Given the description of an element on the screen output the (x, y) to click on. 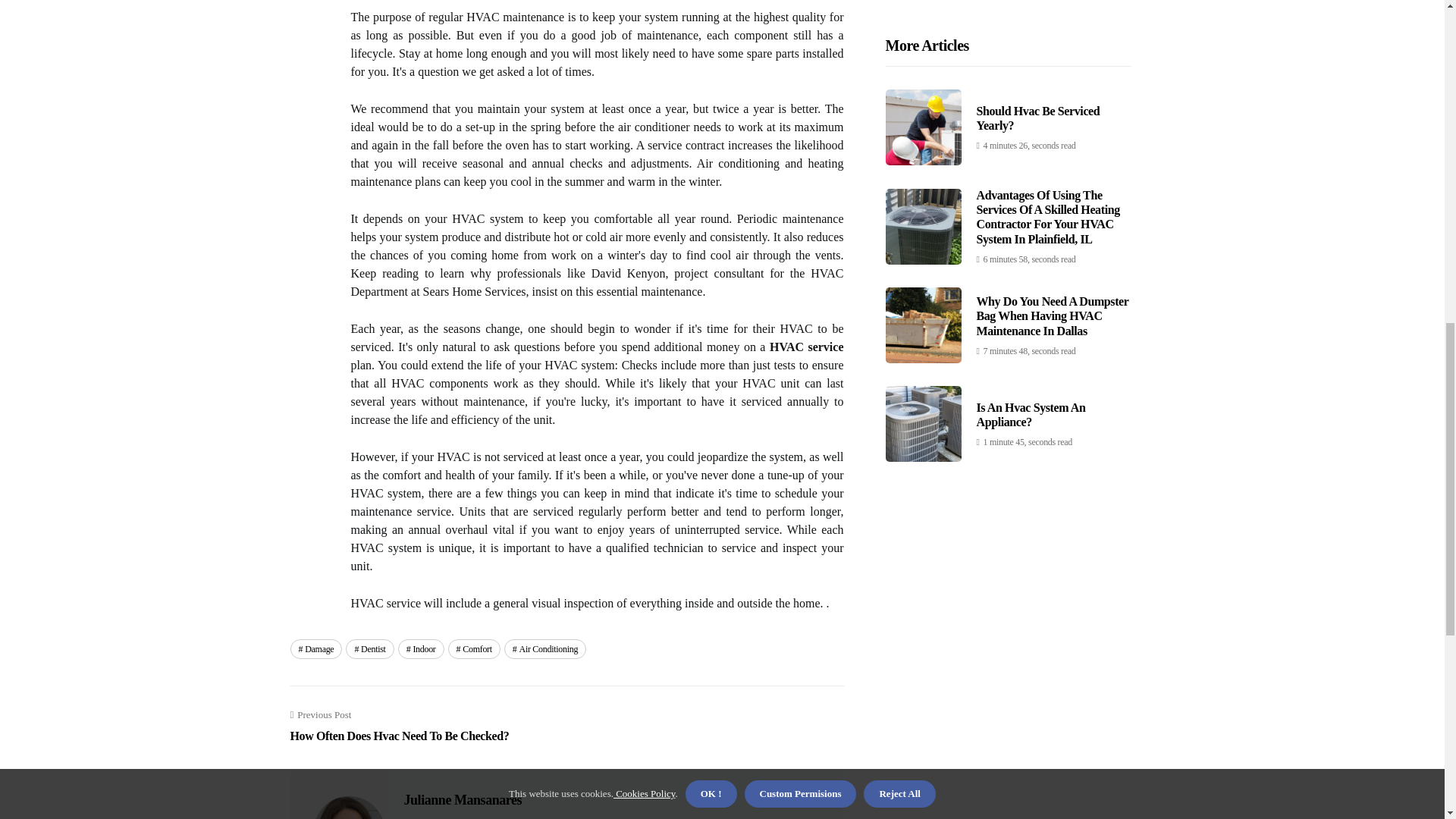
Air Conditioning (544, 649)
Julianne Mansanares (398, 726)
Comfort (462, 799)
Damage (474, 649)
Dentist (315, 649)
Indoor (369, 649)
